Given the description of an element on the screen output the (x, y) to click on. 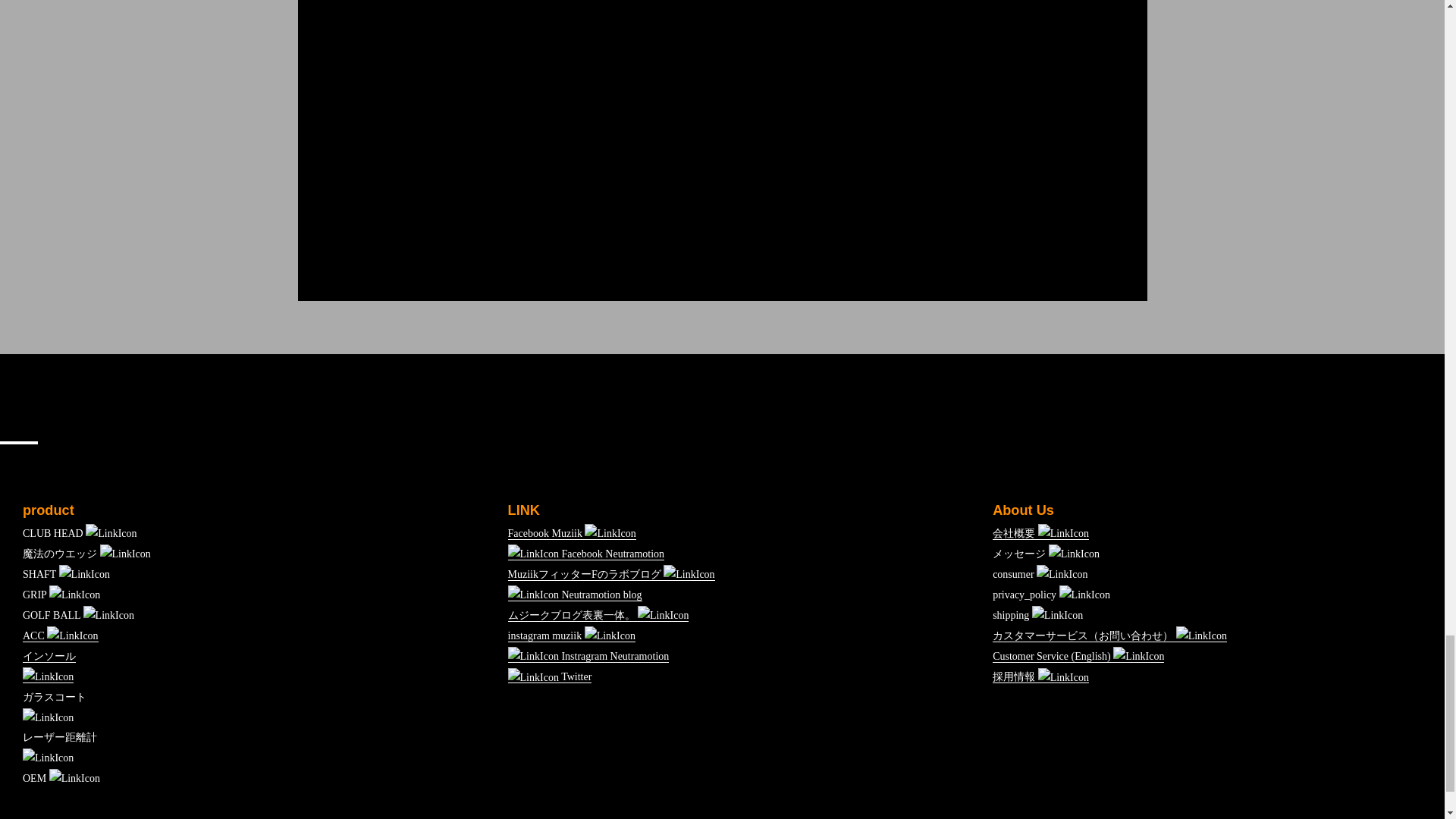
ACC (61, 635)
Instragram Neutramotion (588, 656)
instagram muziik (571, 635)
Facebook Muziik (572, 533)
Twitter (550, 676)
Neutramotion blog (575, 594)
Facebook Neutramotion (586, 553)
